Given the description of an element on the screen output the (x, y) to click on. 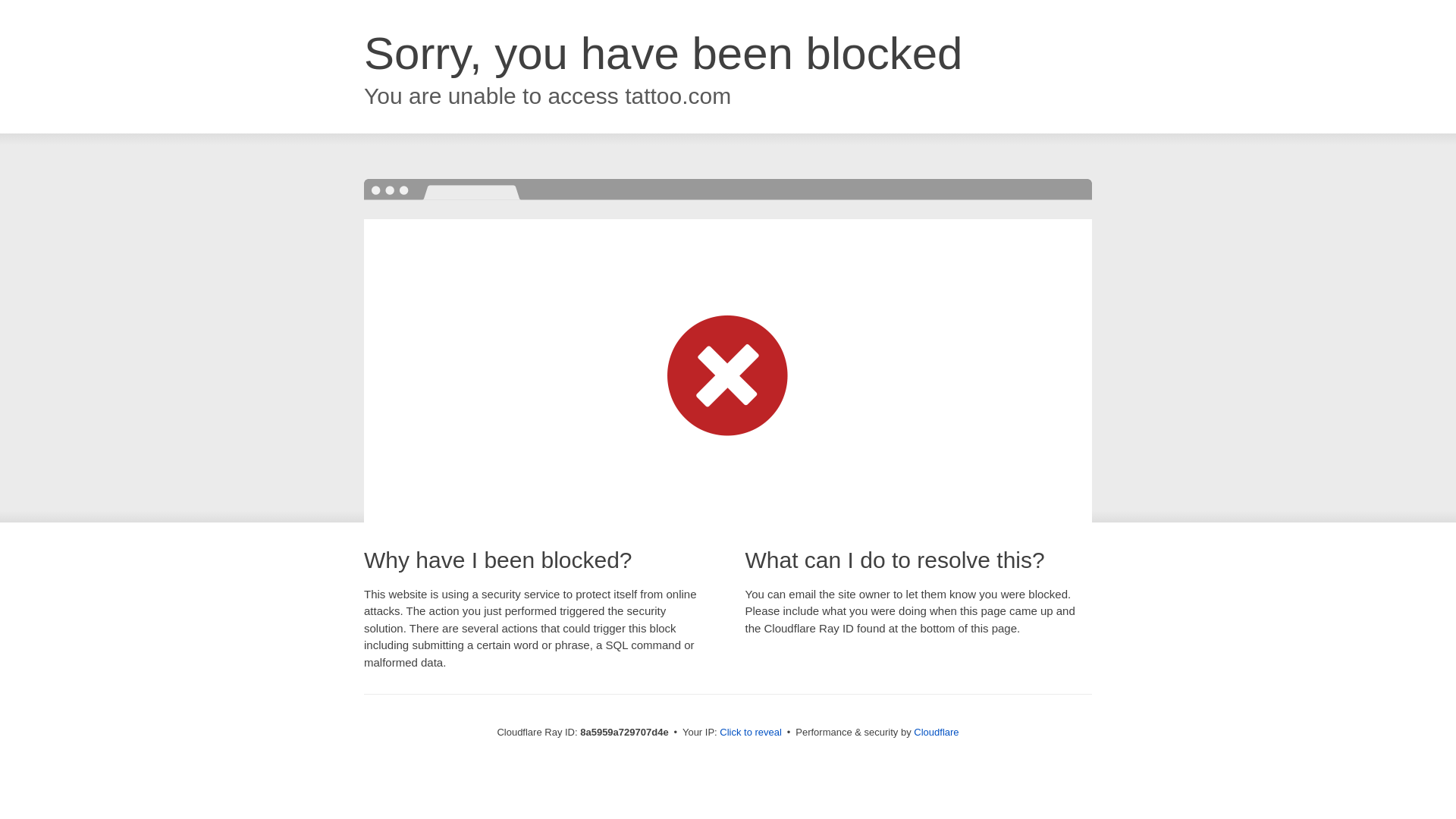
Cloudflare (936, 731)
Click to reveal (750, 732)
